Given the description of an element on the screen output the (x, y) to click on. 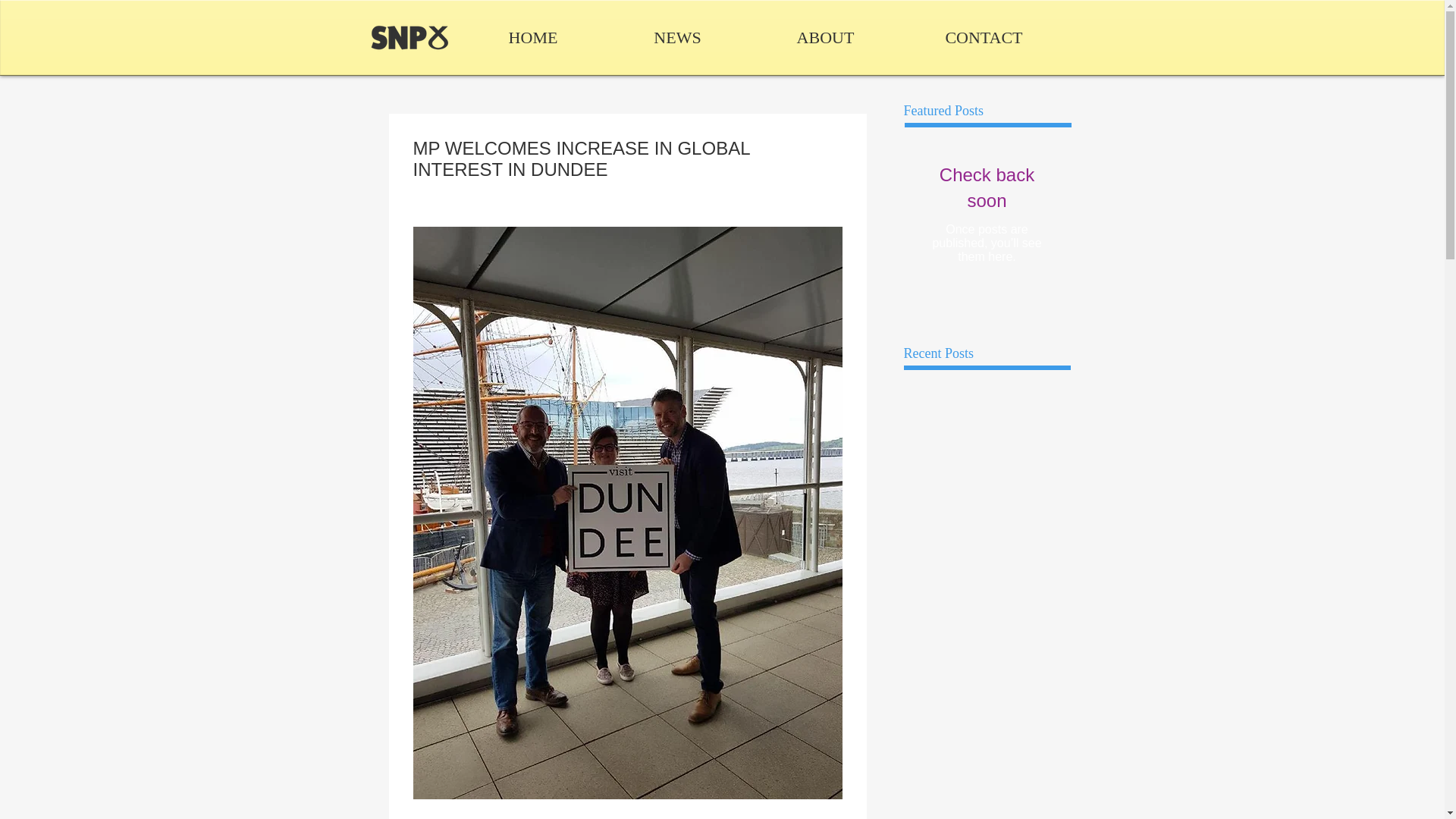
NEWS (677, 37)
HOME (533, 37)
CONTACT (983, 37)
ABOUT (825, 37)
